Given the description of an element on the screen output the (x, y) to click on. 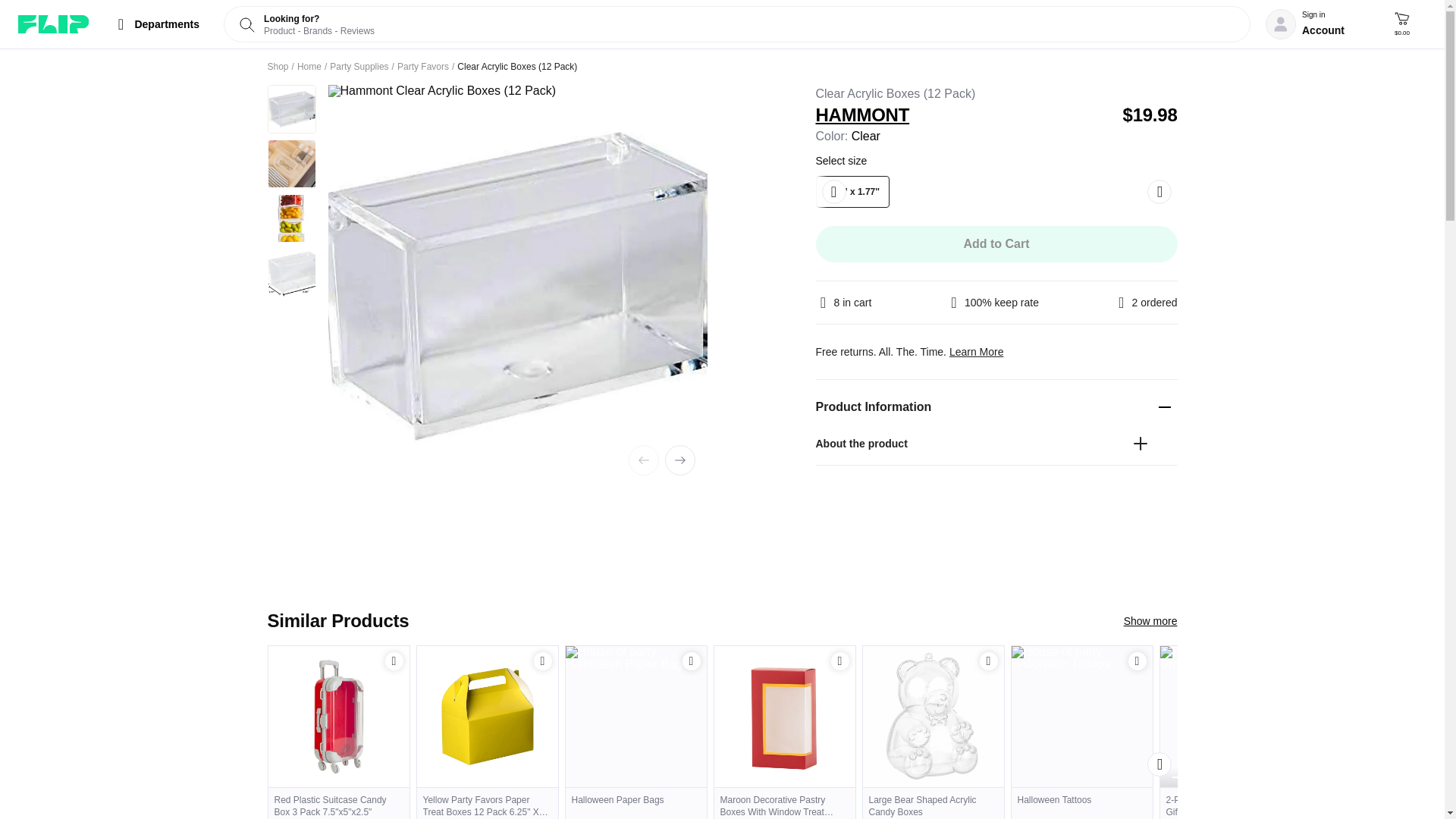
Red Plastic Suitcase Candy Box 3 Pack 7.5"x5"x2.5" (338, 803)
Add to Cart (394, 660)
Shop (277, 66)
Add to Cart (691, 660)
Departments (155, 23)
Add to Cart (542, 660)
Add to Cart (988, 660)
Add to Cart (1137, 660)
Go to show more (1150, 620)
